Given the description of an element on the screen output the (x, y) to click on. 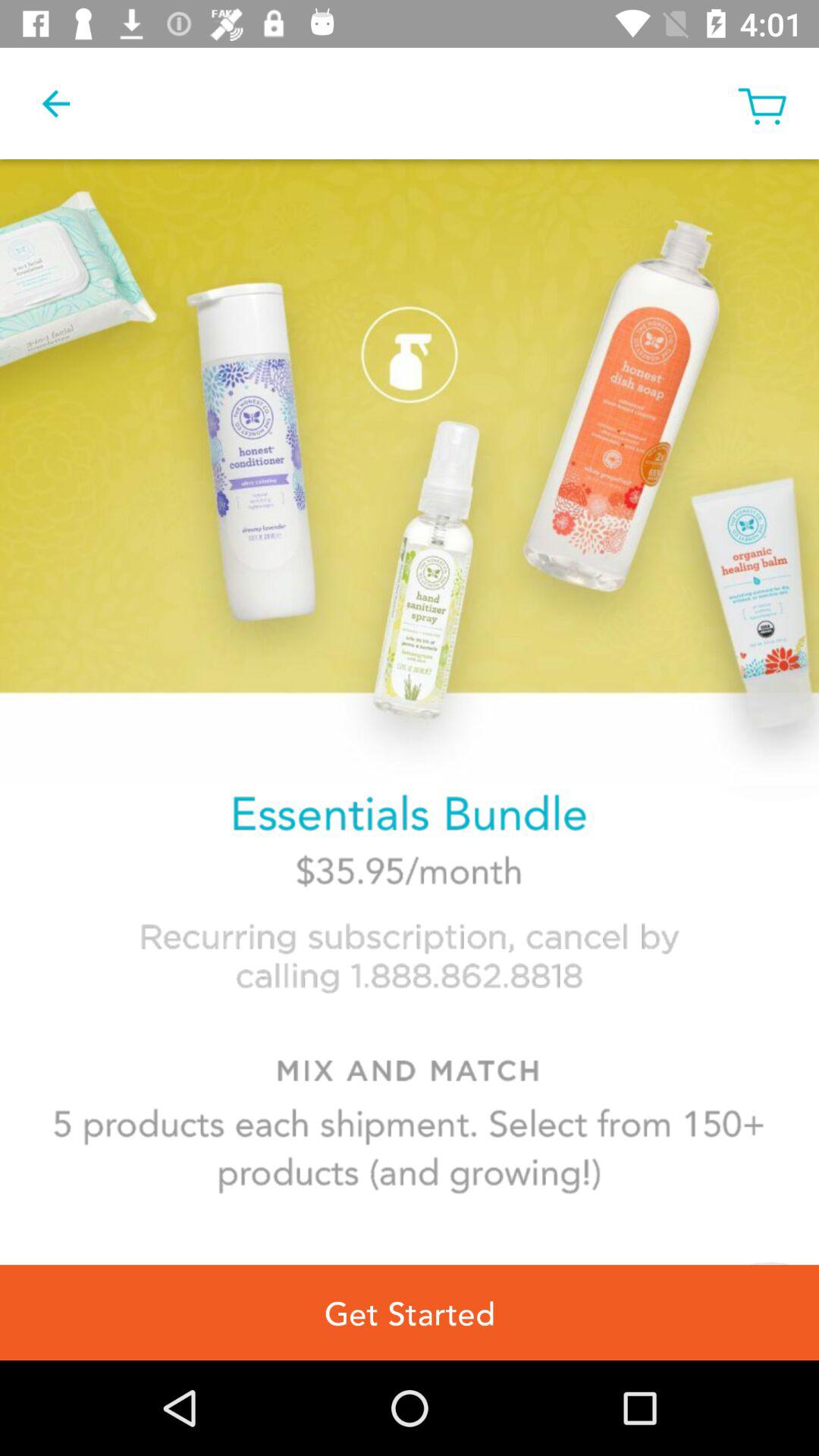
swipe to the get started item (409, 1312)
